Given the description of an element on the screen output the (x, y) to click on. 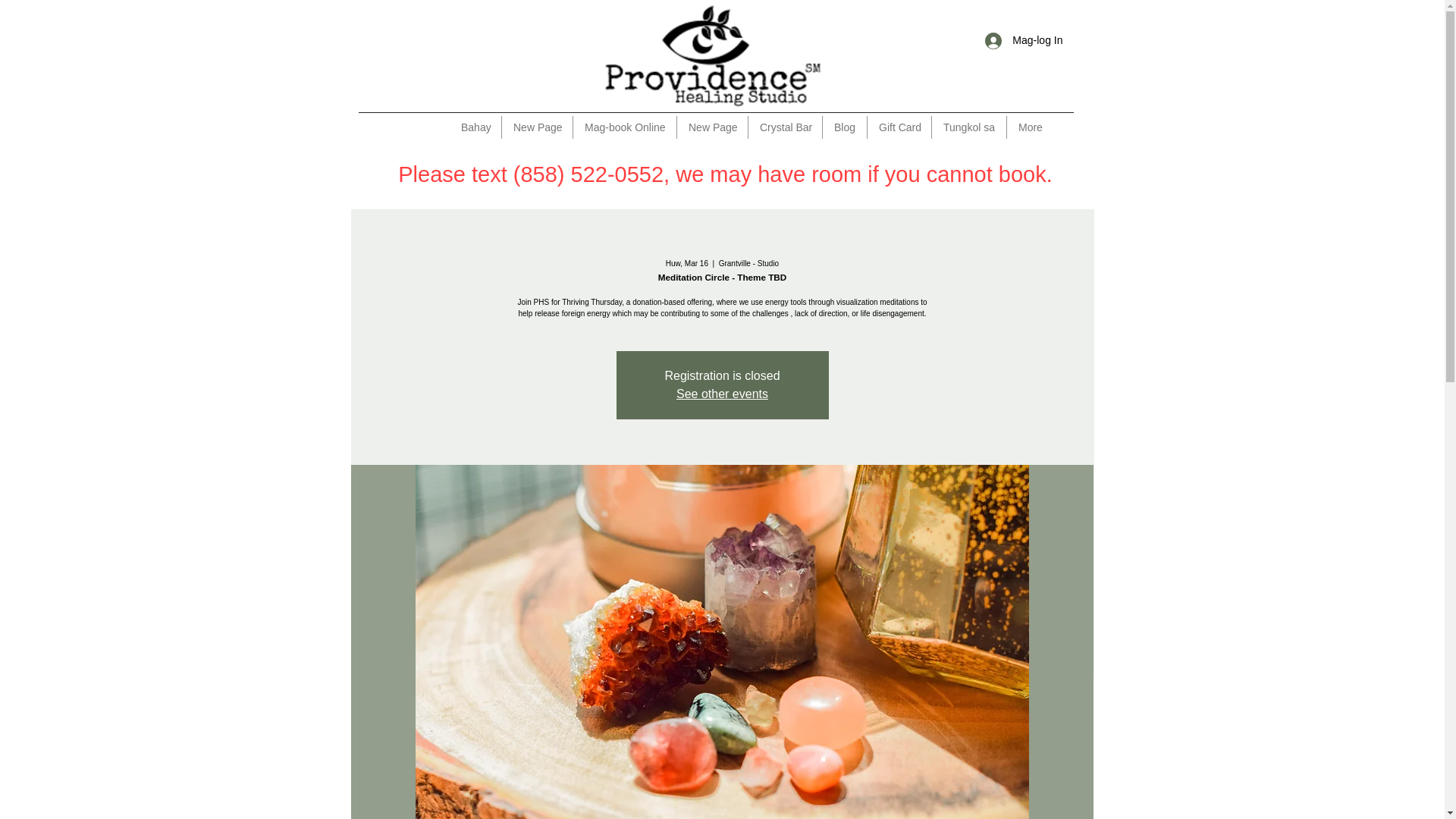
See other events (722, 393)
Gift Card (899, 127)
Bahay (474, 127)
Blog (844, 127)
Mag-book Online (625, 127)
New Page (537, 127)
Mag-log In (1023, 40)
Tungkol sa (968, 127)
New Page (712, 127)
Crystal Bar (785, 127)
